Given the description of an element on the screen output the (x, y) to click on. 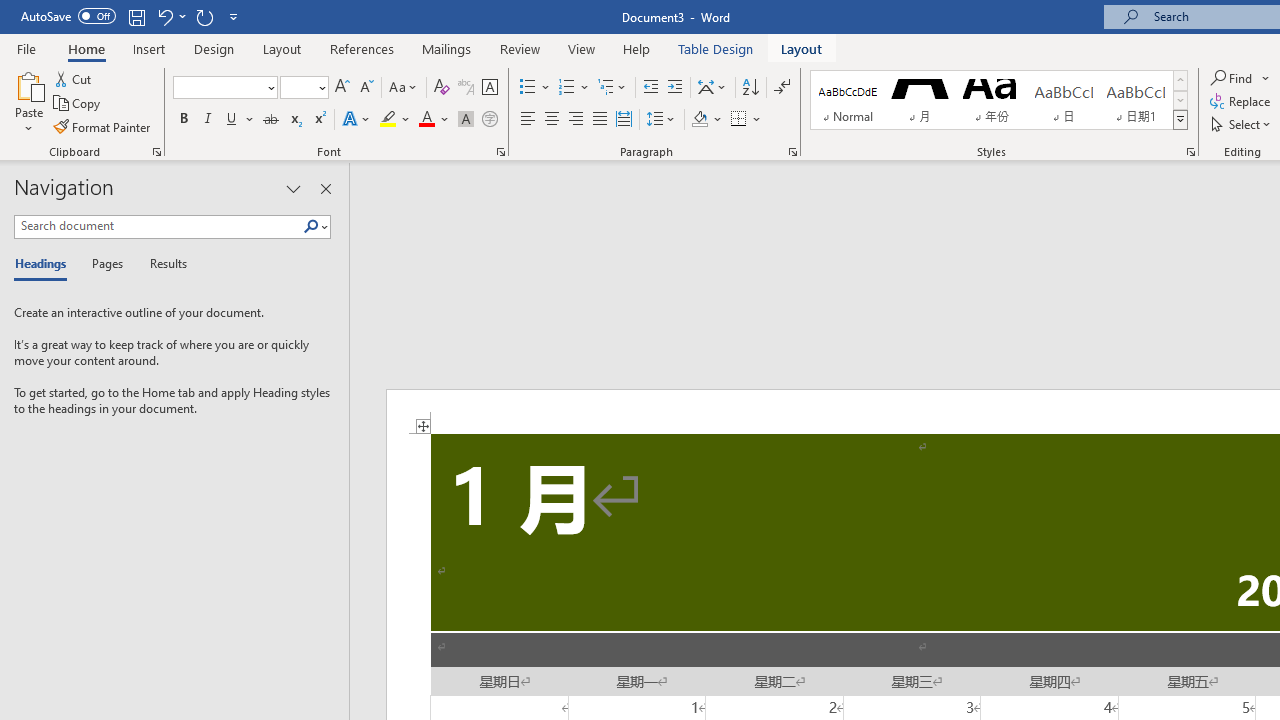
AutomationID: QuickStylesGallery (999, 99)
